Given the description of an element on the screen output the (x, y) to click on. 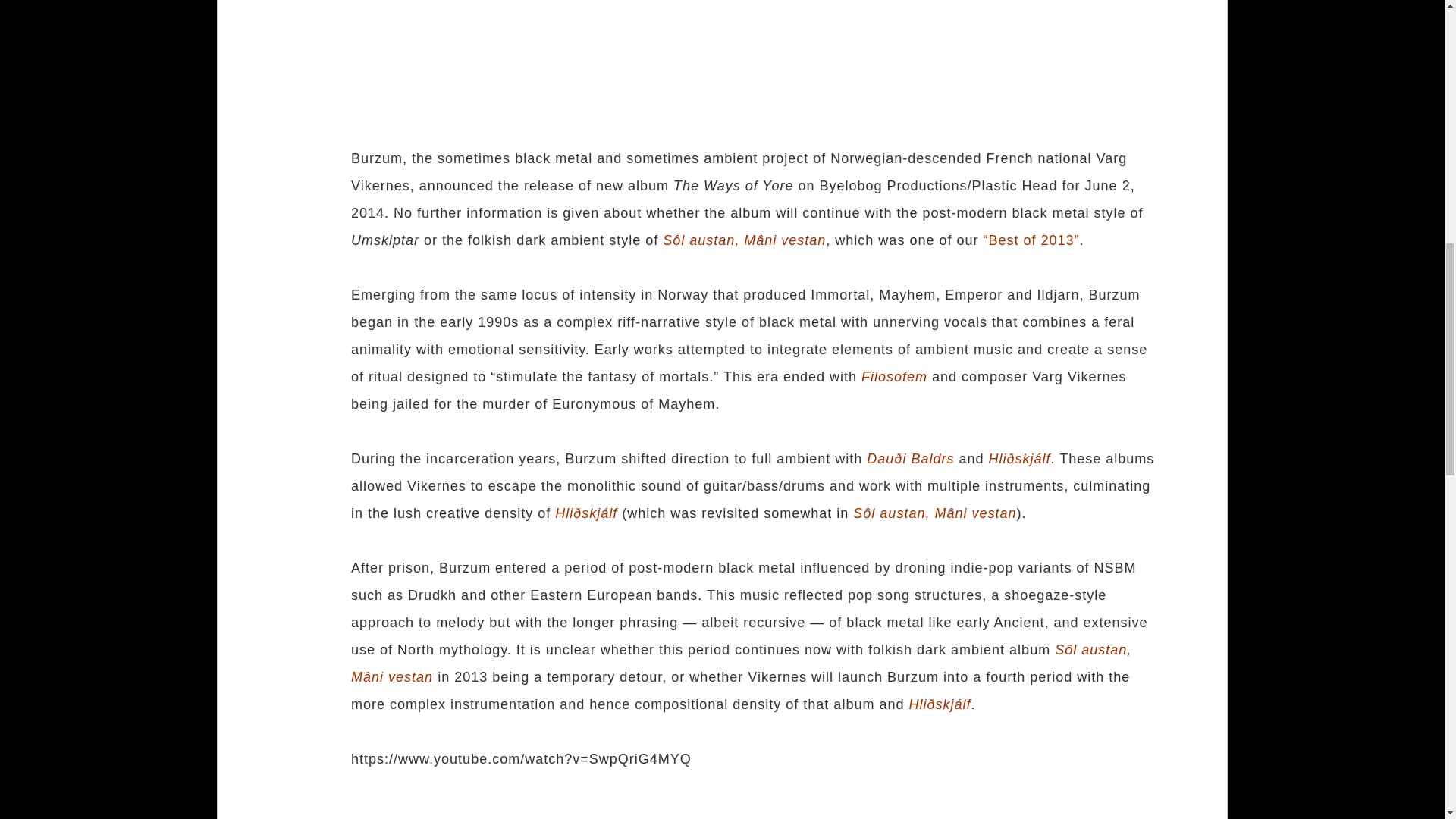
Burzum 1999 Hlidskjalf - Tuistos Herz (540, 809)
Filosofem (894, 376)
